Given the description of an element on the screen output the (x, y) to click on. 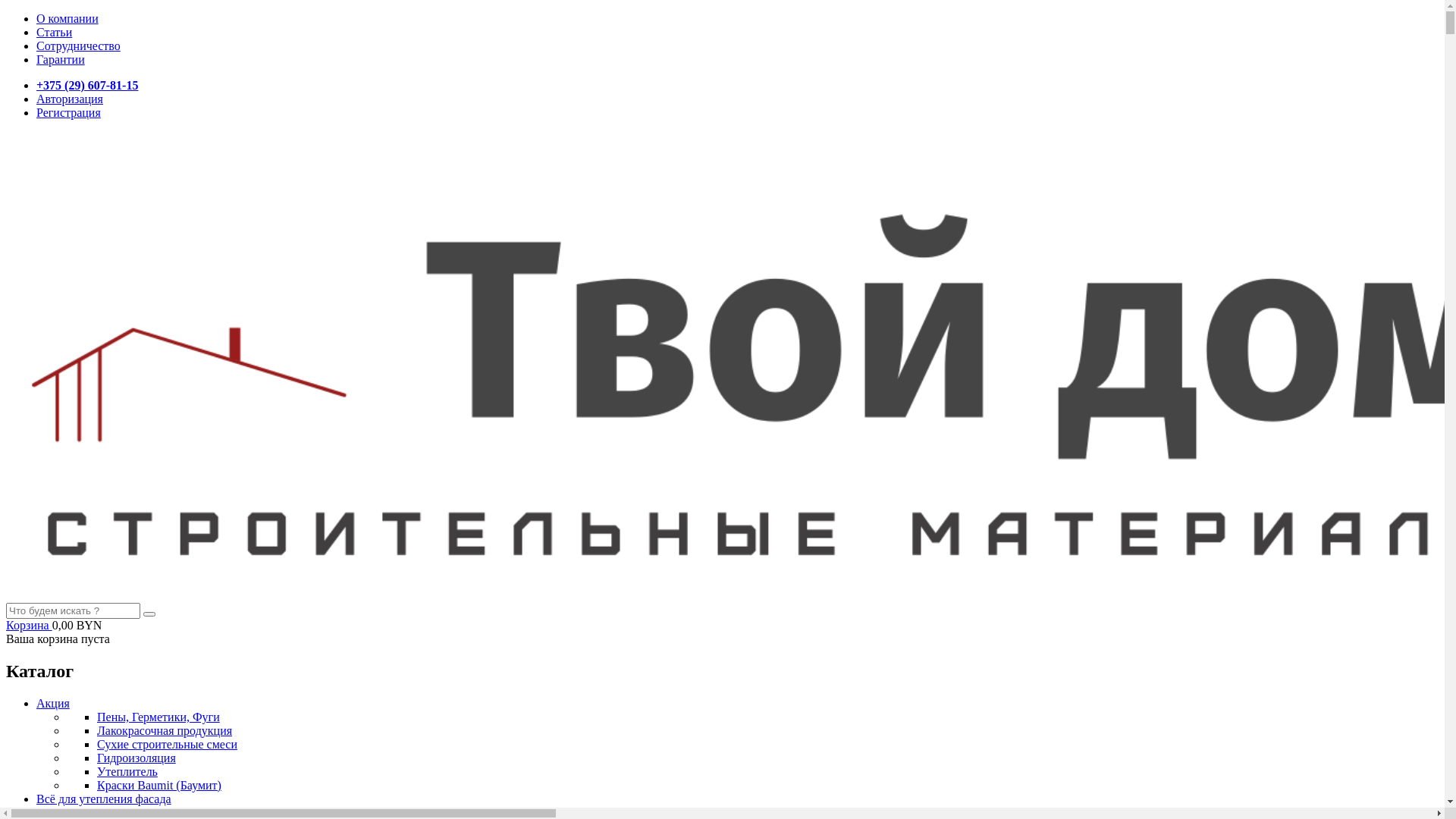
+375 (29) 607-81-15 Element type: text (87, 84)
